Given the description of an element on the screen output the (x, y) to click on. 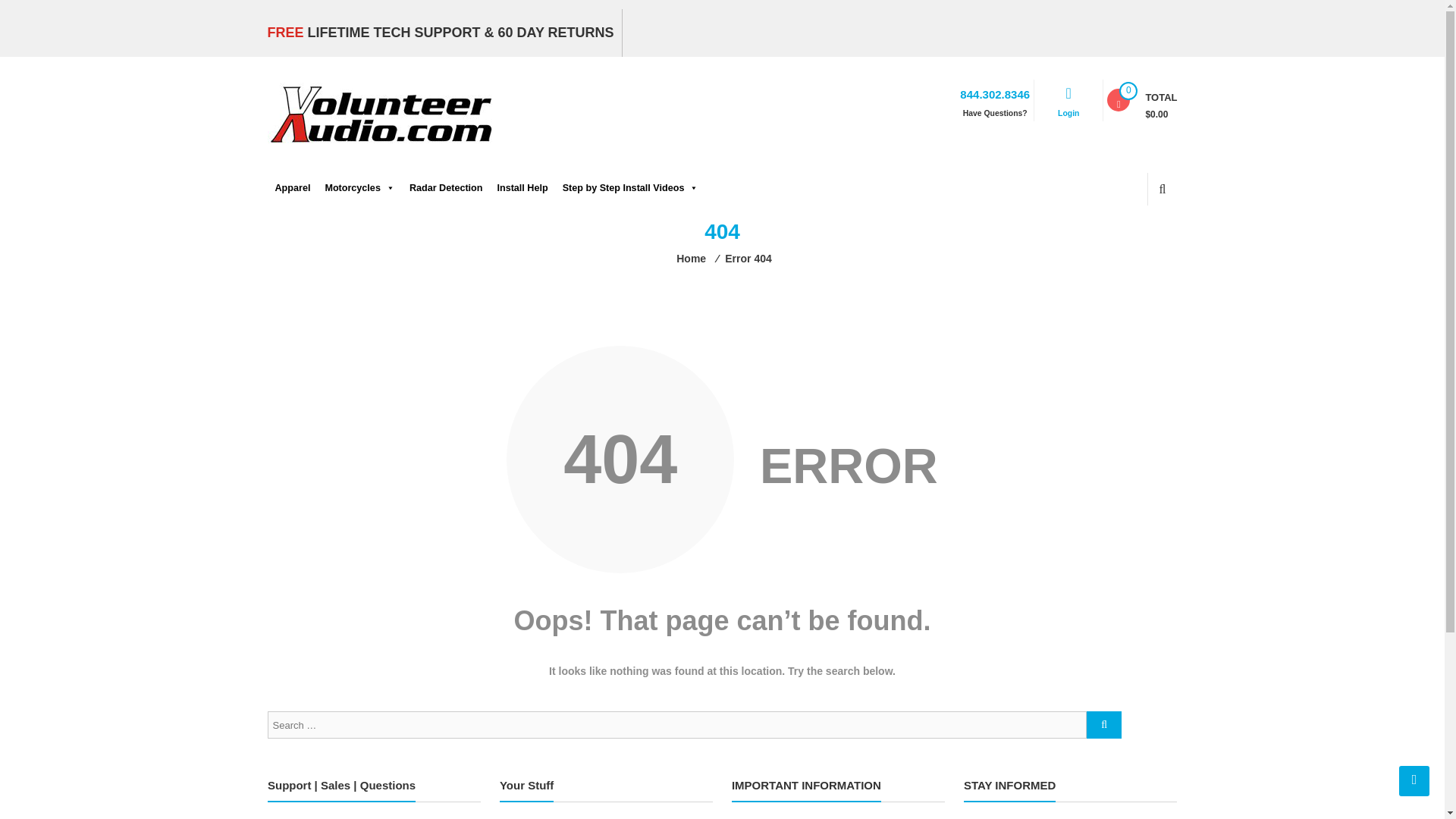
Step by Step Install Videos (628, 187)
Radar Detection (444, 187)
844.302.8346 (994, 93)
Home (691, 258)
Install Help (520, 187)
Motorcycles (357, 187)
Apparel (290, 187)
         Login          (1068, 122)
Search (1150, 240)
0 (1117, 99)
